Given the description of an element on the screen output the (x, y) to click on. 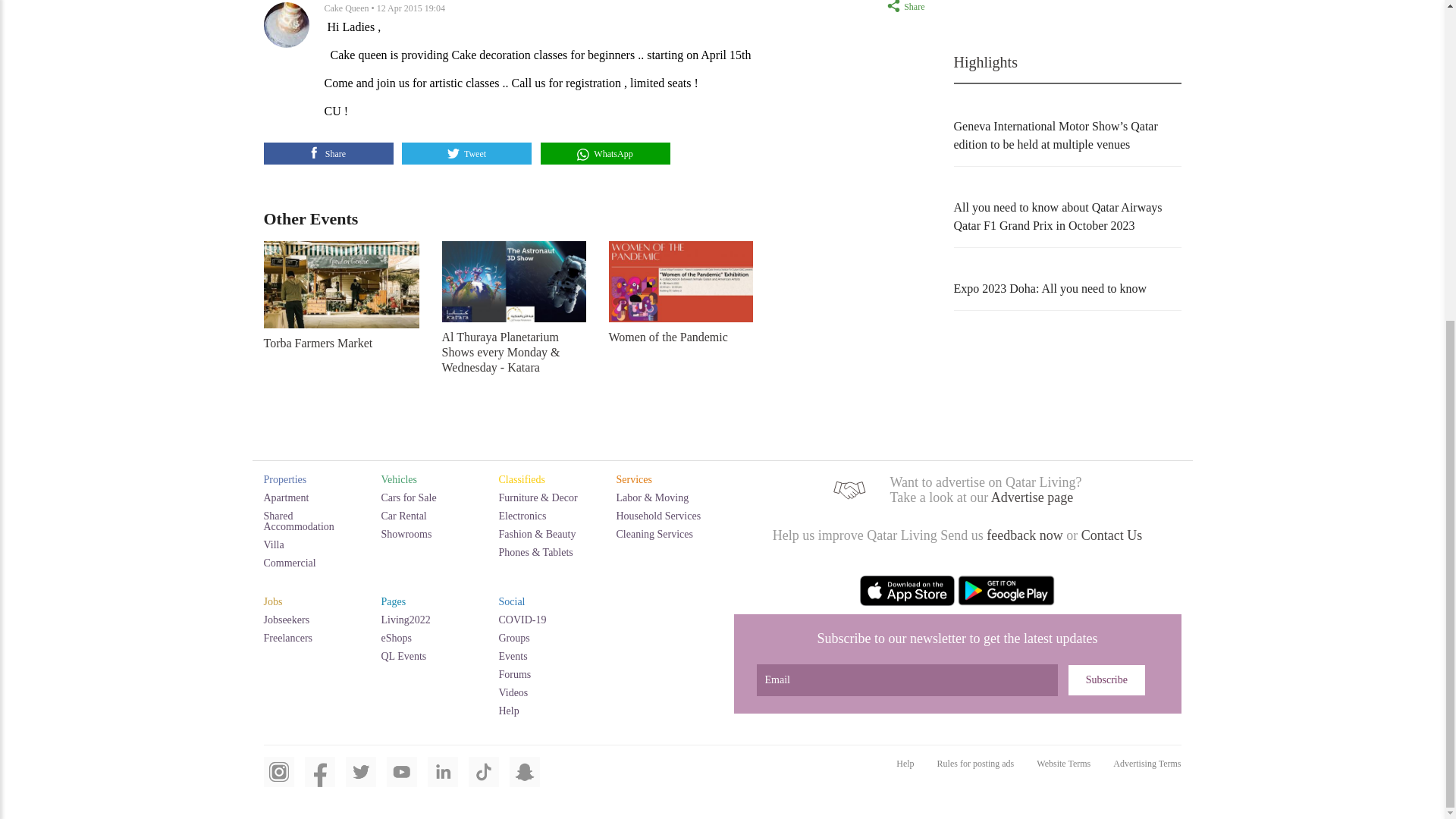
Subscribe (1106, 680)
LINKEDIN (443, 780)
SNAPCHAT (524, 780)
TWITTER (360, 780)
YOUTUBE (401, 780)
TIKTOK (483, 780)
INSTAGRAM (278, 780)
FACEBOOK (319, 780)
View user profile. (346, 8)
